Given the description of an element on the screen output the (x, y) to click on. 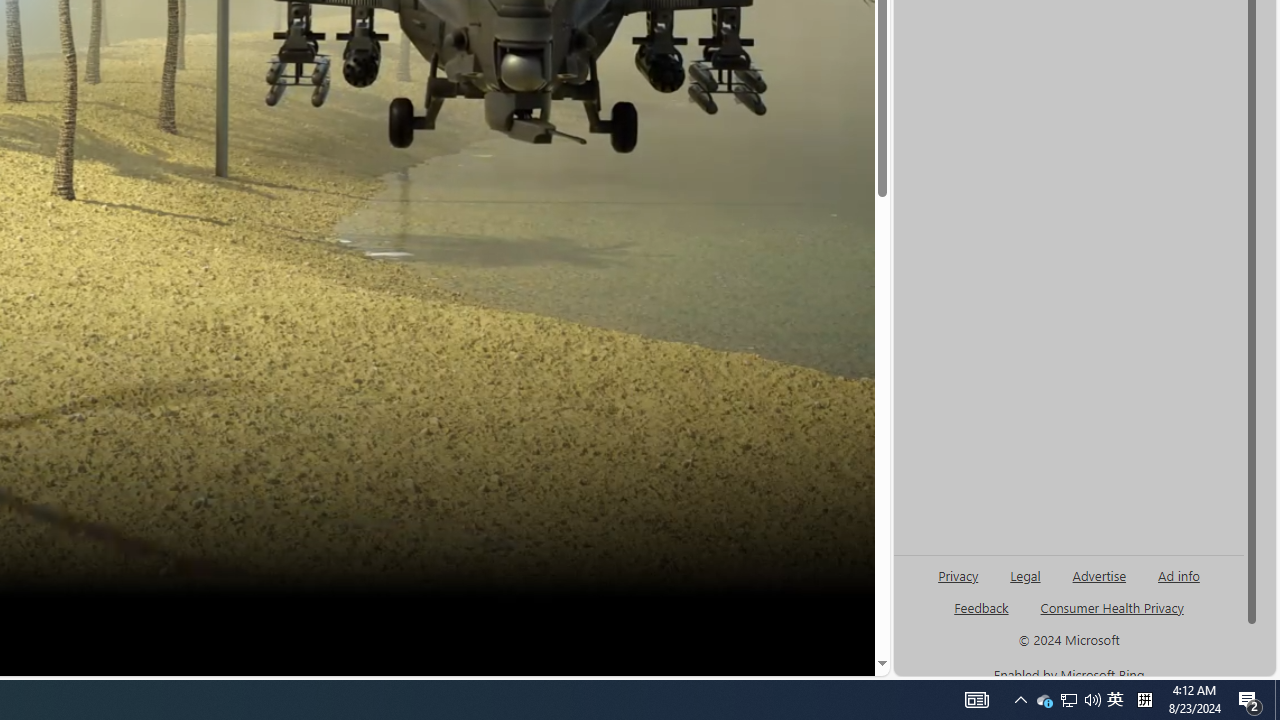
AutomationID: genId96 (981, 615)
HELP PAGES (39, 617)
AutomationID: sb_feedback (980, 607)
